Given the description of an element on the screen output the (x, y) to click on. 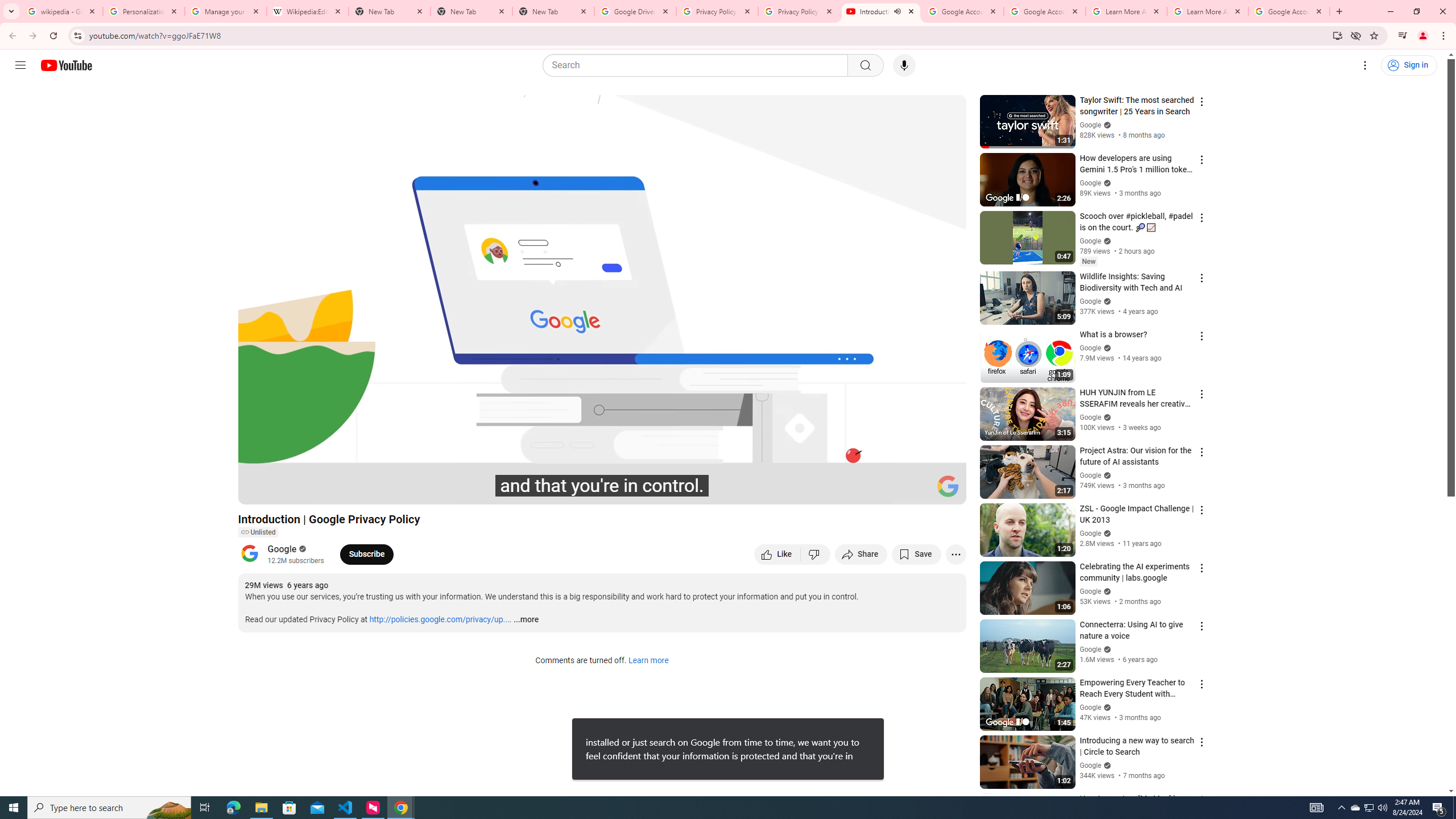
Share (861, 554)
Google Account (1289, 11)
Full screen (f) (945, 490)
Dislike this video (815, 554)
Subscribe to Google. (366, 554)
...more (525, 620)
